Given the description of an element on the screen output the (x, y) to click on. 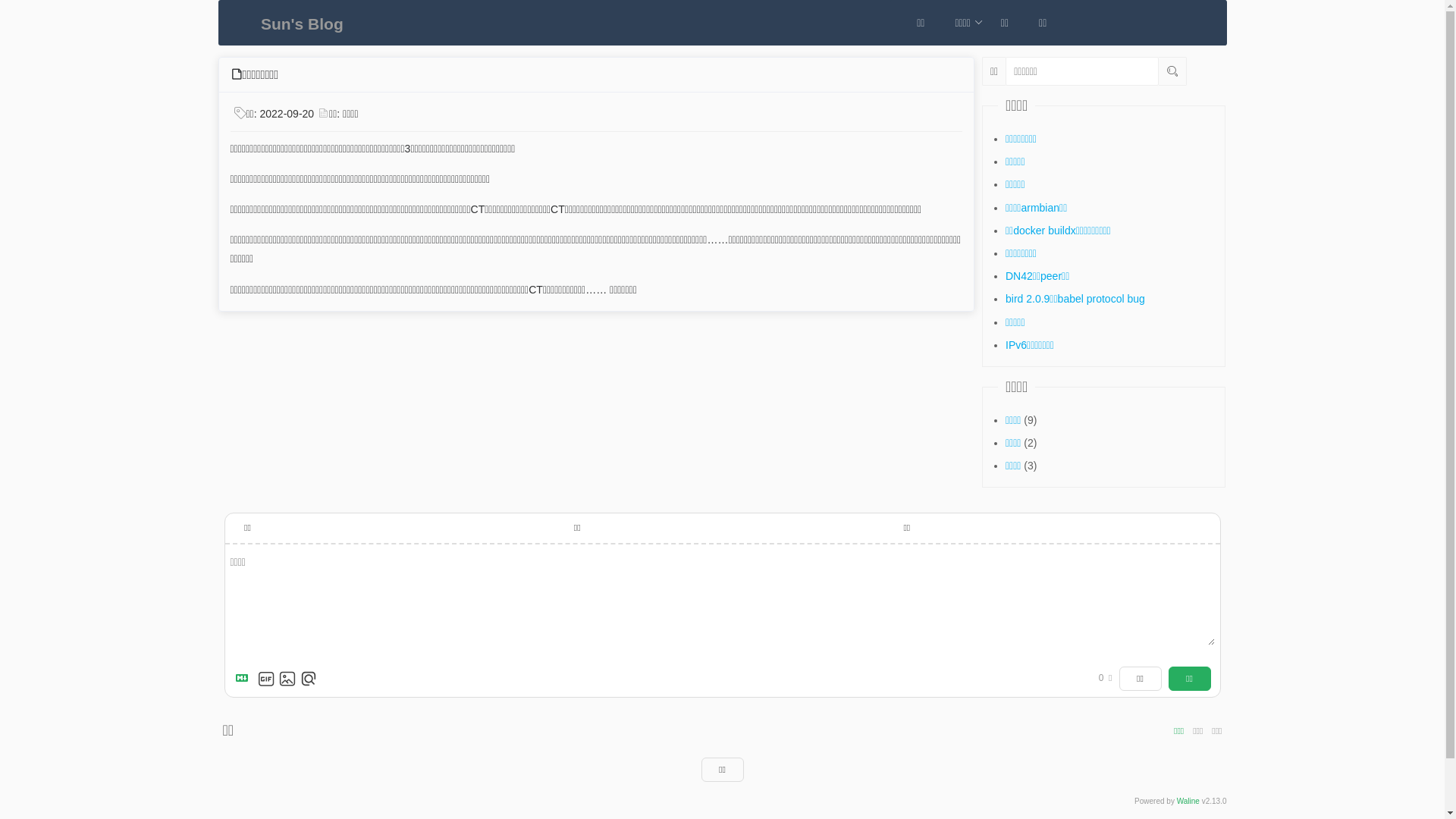
Waline Element type: text (1187, 801)
Markdown Guide Element type: hover (244, 678)
